Given the description of an element on the screen output the (x, y) to click on. 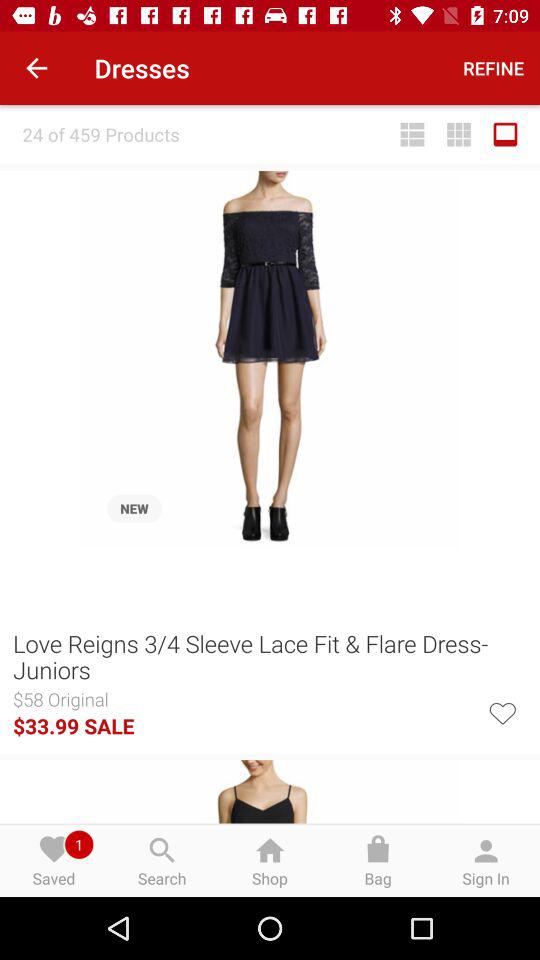
add to saved list (501, 711)
